Given the description of an element on the screen output the (x, y) to click on. 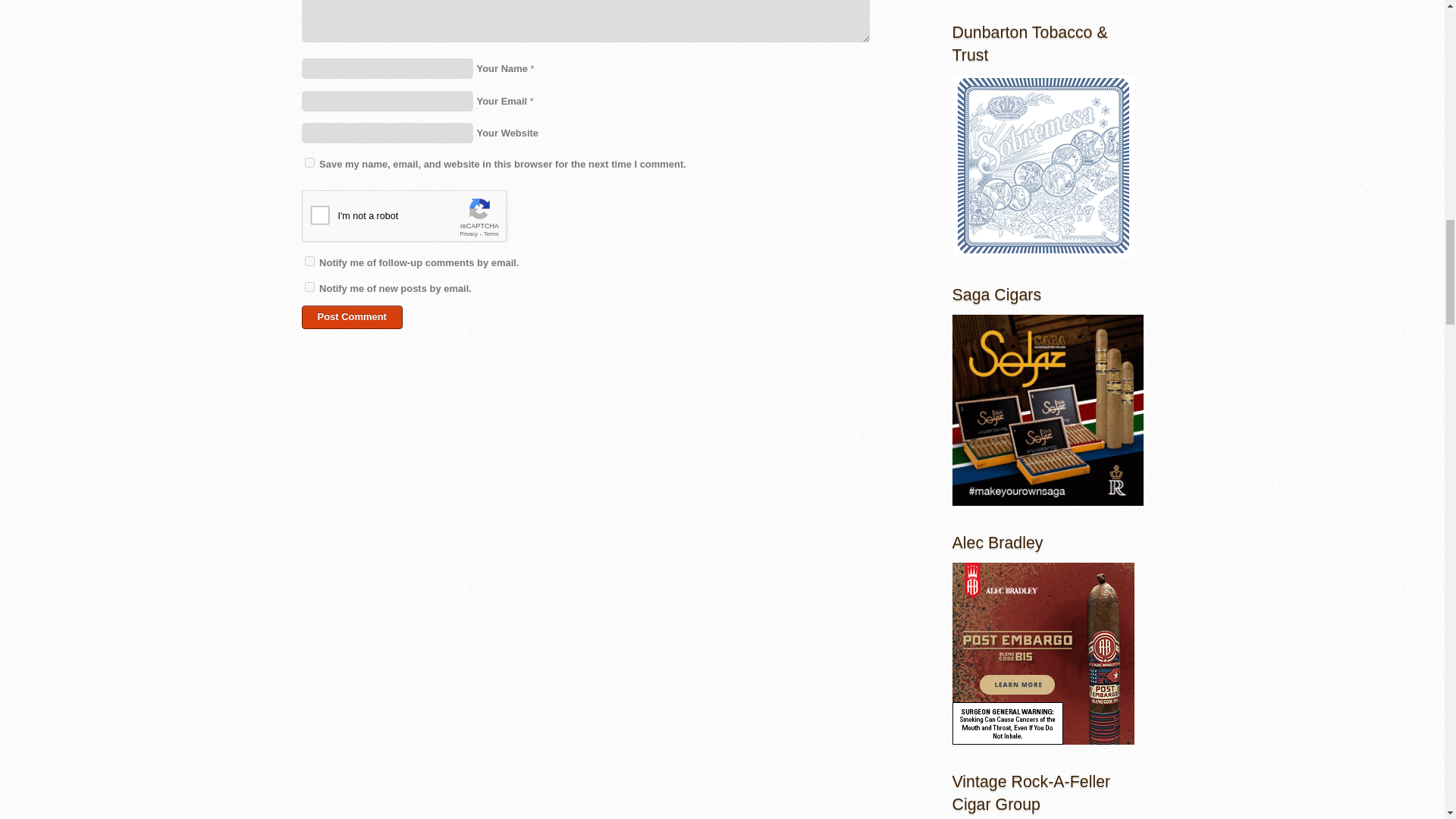
subscribe (309, 286)
yes (309, 162)
Post Comment (352, 317)
reCAPTCHA (416, 219)
subscribe (309, 261)
